Given the description of an element on the screen output the (x, y) to click on. 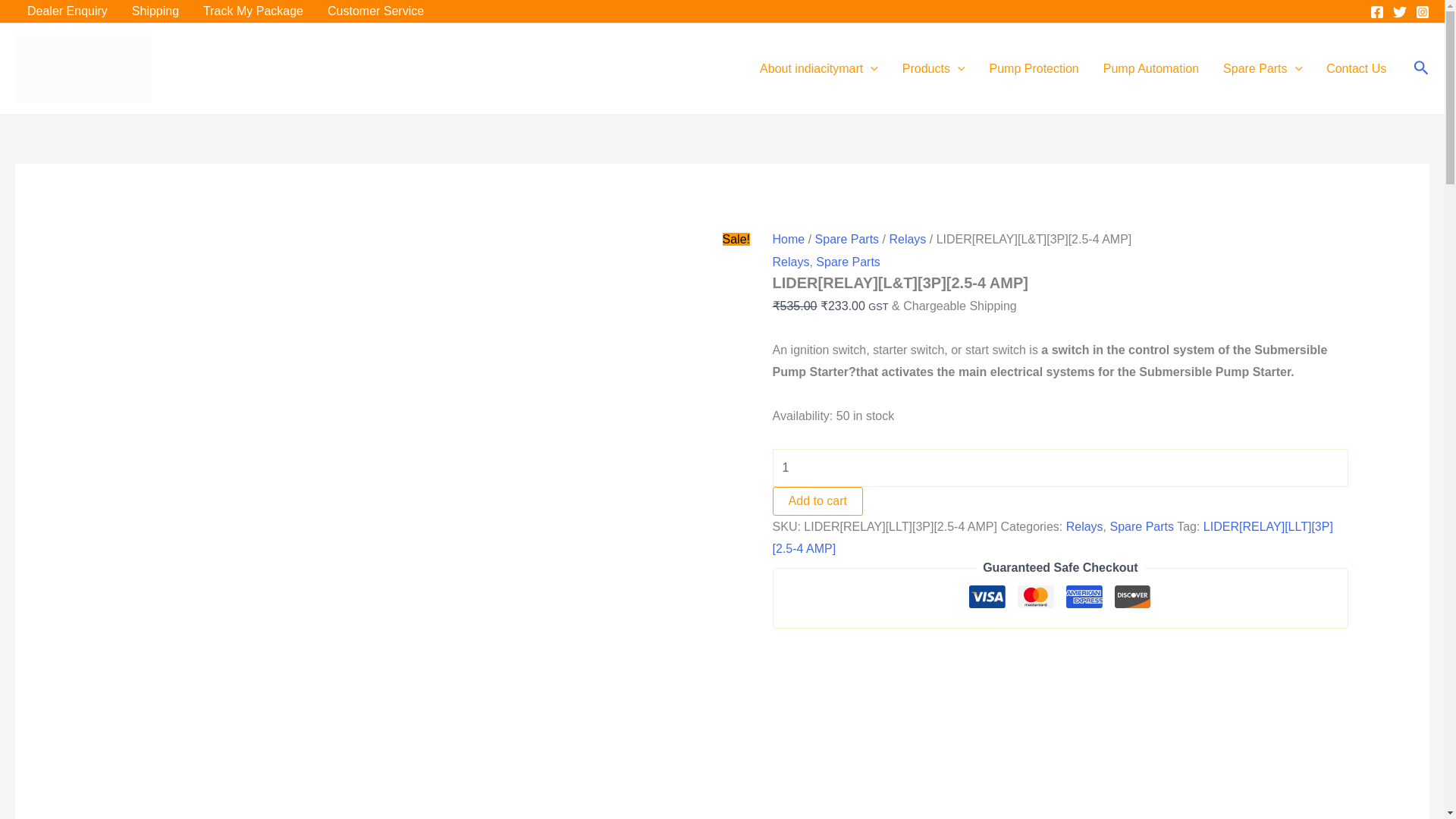
Pump Automation (1150, 68)
Dealer Enquiry (66, 11)
Track My Package (252, 11)
1 (1061, 467)
Pump Protection (1033, 68)
About indiacitymart (818, 68)
Shipping (154, 11)
Spare Parts (1262, 68)
Contact Us (1355, 68)
Products (932, 68)
